Given the description of an element on the screen output the (x, y) to click on. 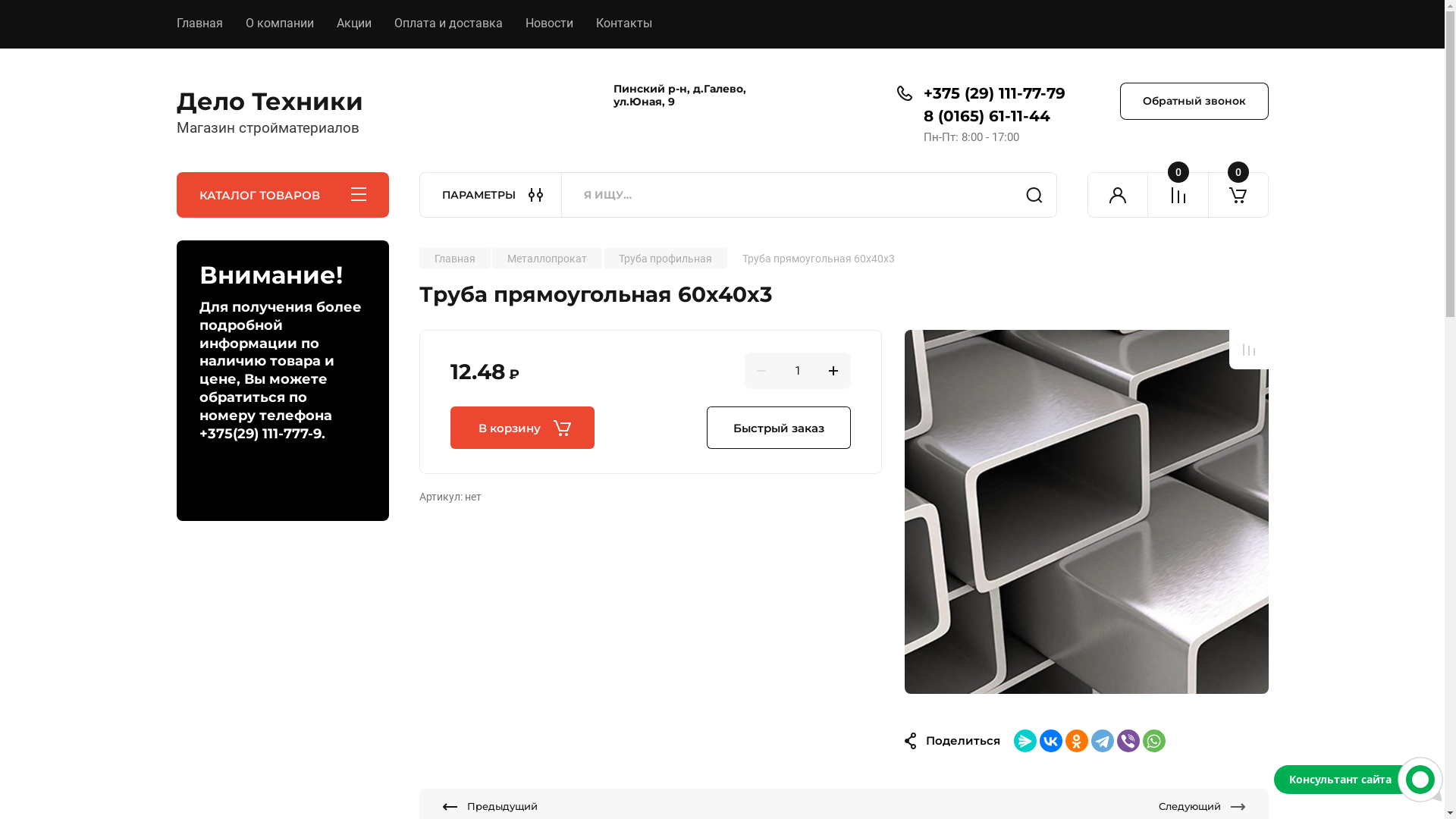
Telegram Element type: hover (1101, 740)
+ Element type: text (832, 370)
0 Element type: text (1237, 194)
Visa Element type: hover (667, 465)
MasterCard Element type: hover (722, 465)
+375 (29) 111-77-79 Element type: text (475, 559)
Viber Element type: hover (1127, 740)
WhatsApp Element type: hover (1153, 740)
  Element type: text (1178, 194)
8 (0165) 61-11-44 Element type: text (986, 115)
megagroup.by Element type: text (1240, 771)
8 (0165) 61-11-44 Element type: text (468, 578)
delo-tpinsk@yandex.by Element type: text (1206, 558)
+375 (29) 111-77-79 Element type: text (994, 93)
